Given the description of an element on the screen output the (x, y) to click on. 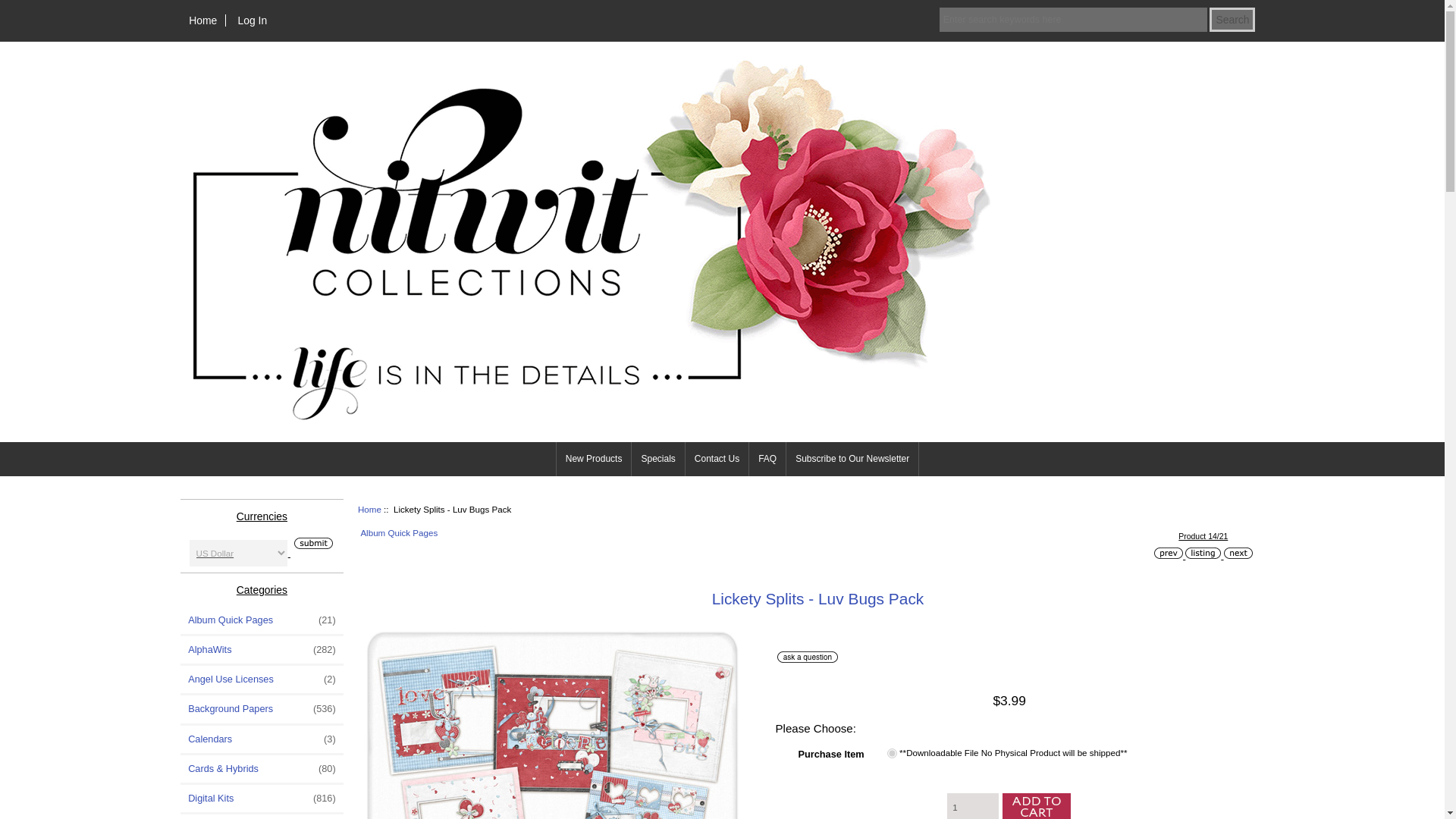
Subscribe to Our Newsletter (852, 458)
1 (972, 806)
Home (202, 20)
Previous (1168, 552)
Specials (657, 458)
Add to Cart (1034, 806)
Ask a Question (807, 656)
Contact Us (716, 458)
Next (1238, 552)
New Products (593, 458)
Search (1232, 19)
1 (891, 753)
Log In (251, 20)
Return to the Product List (1203, 552)
Lickety Splits - Luv Bugs Pack (551, 721)
